Given the description of an element on the screen output the (x, y) to click on. 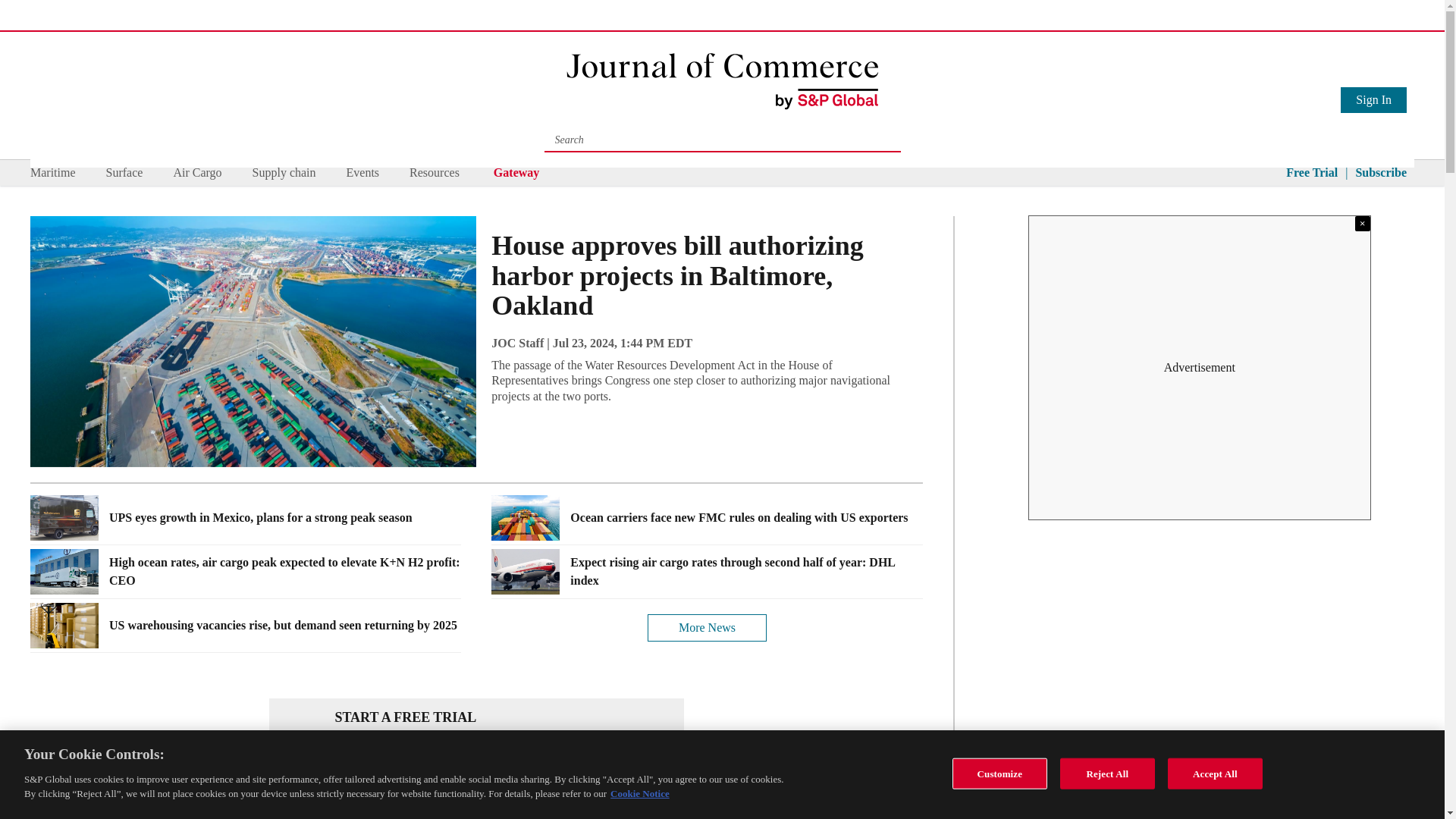
Air Cargo (197, 172)
3rd party ad content (1199, 805)
Maritime (52, 172)
Surface (124, 172)
Supply chain (283, 172)
Sign In (1373, 99)
Events (363, 172)
3rd party ad content (1199, 367)
Resources (434, 172)
